Given the description of an element on the screen output the (x, y) to click on. 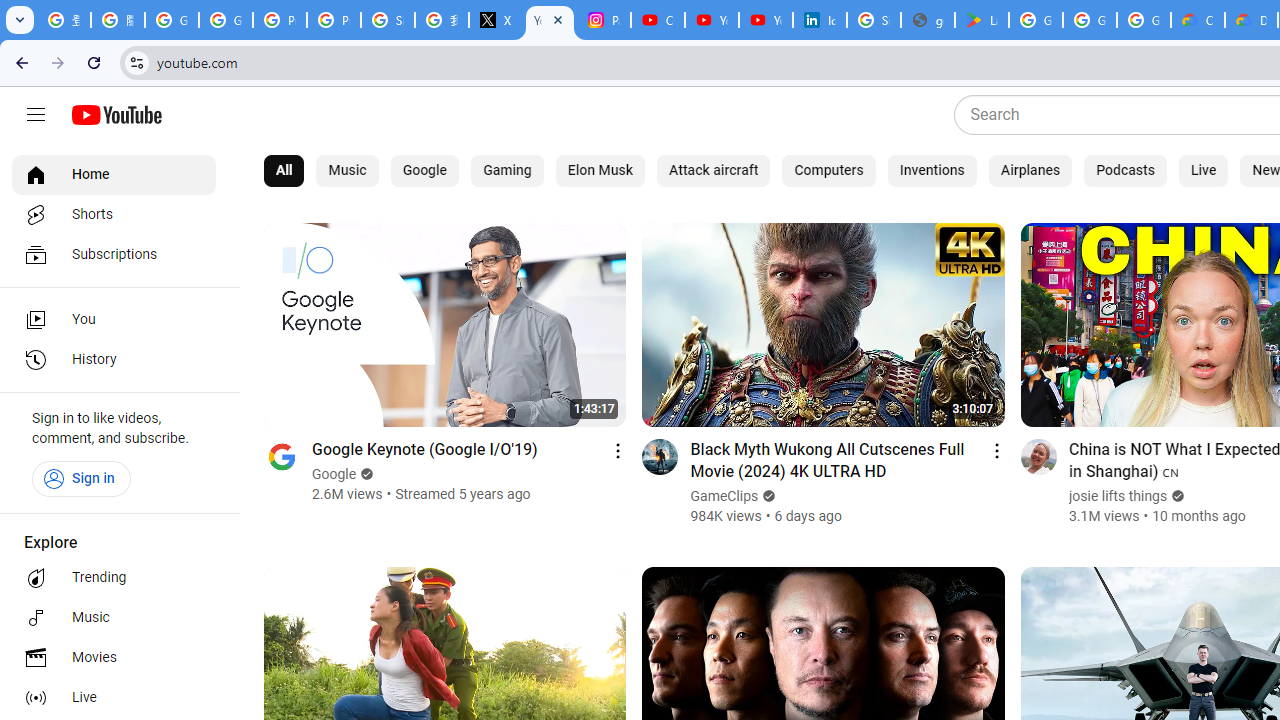
Home (113, 174)
Live (113, 697)
google_privacy_policy_en.pdf (927, 20)
Google Workspace - Specific Terms (1089, 20)
Google (424, 170)
YouTube Home (116, 115)
Privacy Help Center - Policies Help (280, 20)
Shorts (113, 214)
Attack aircraft (713, 170)
Sign in (81, 478)
GameClips (724, 496)
Music (347, 170)
